Given the description of an element on the screen output the (x, y) to click on. 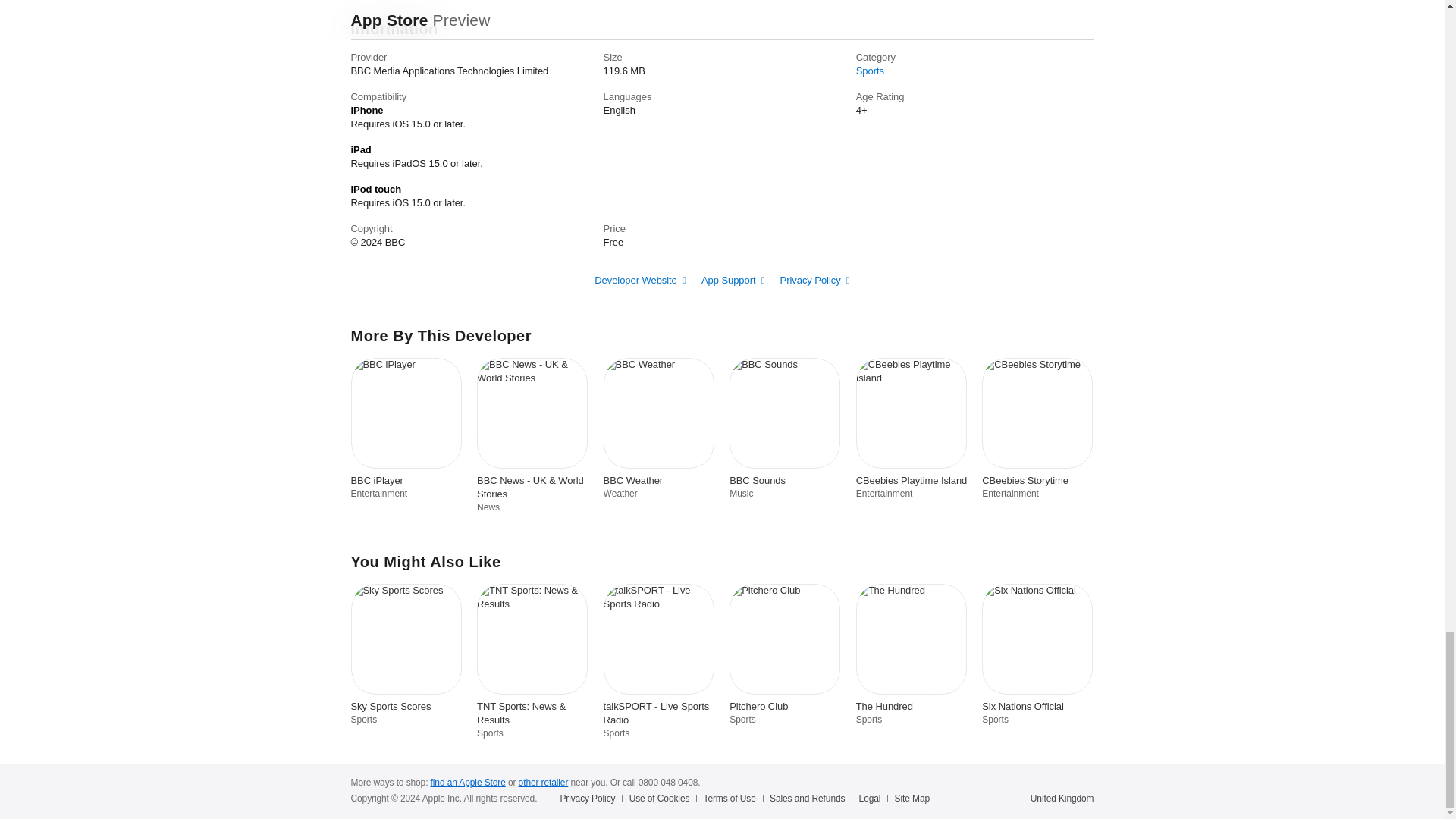
Privacy Policy (815, 279)
Sports (869, 70)
Developer Website (639, 279)
App Support (733, 279)
Choose your country or region (1062, 798)
